Given the description of an element on the screen output the (x, y) to click on. 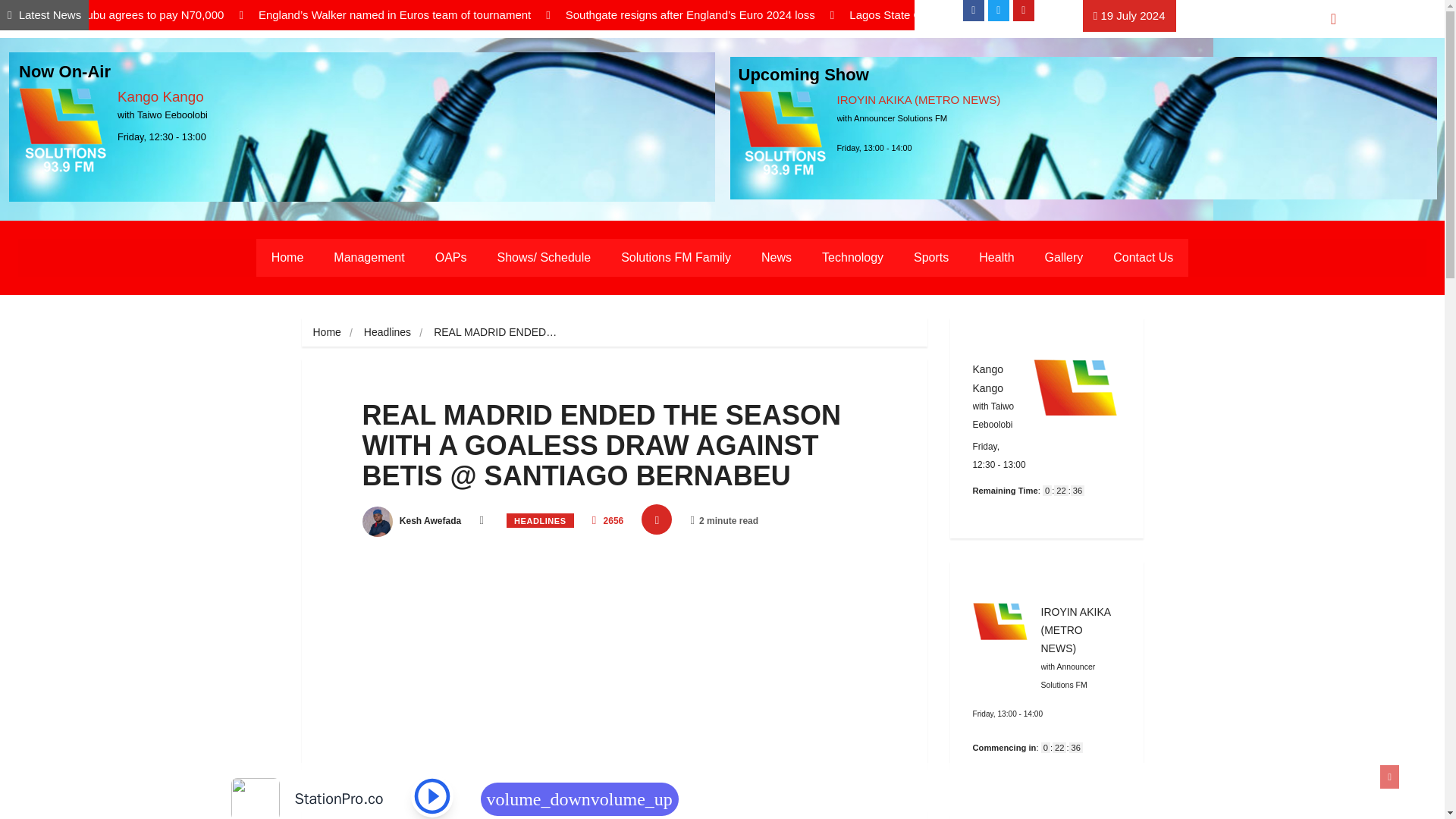
Kesh Awefada (411, 520)
Technology (852, 257)
Home (287, 257)
OAPs (450, 257)
Sports (930, 257)
Contact Us (1142, 257)
News (775, 257)
Solutions FM Family (675, 257)
Minimum Wage- Tinubu agrees to pay N70,000 (120, 15)
Back to Top (1389, 776)
Management (368, 257)
Kango Kango (160, 96)
Headlines (387, 331)
HEADLINES (539, 520)
